Given the description of an element on the screen output the (x, y) to click on. 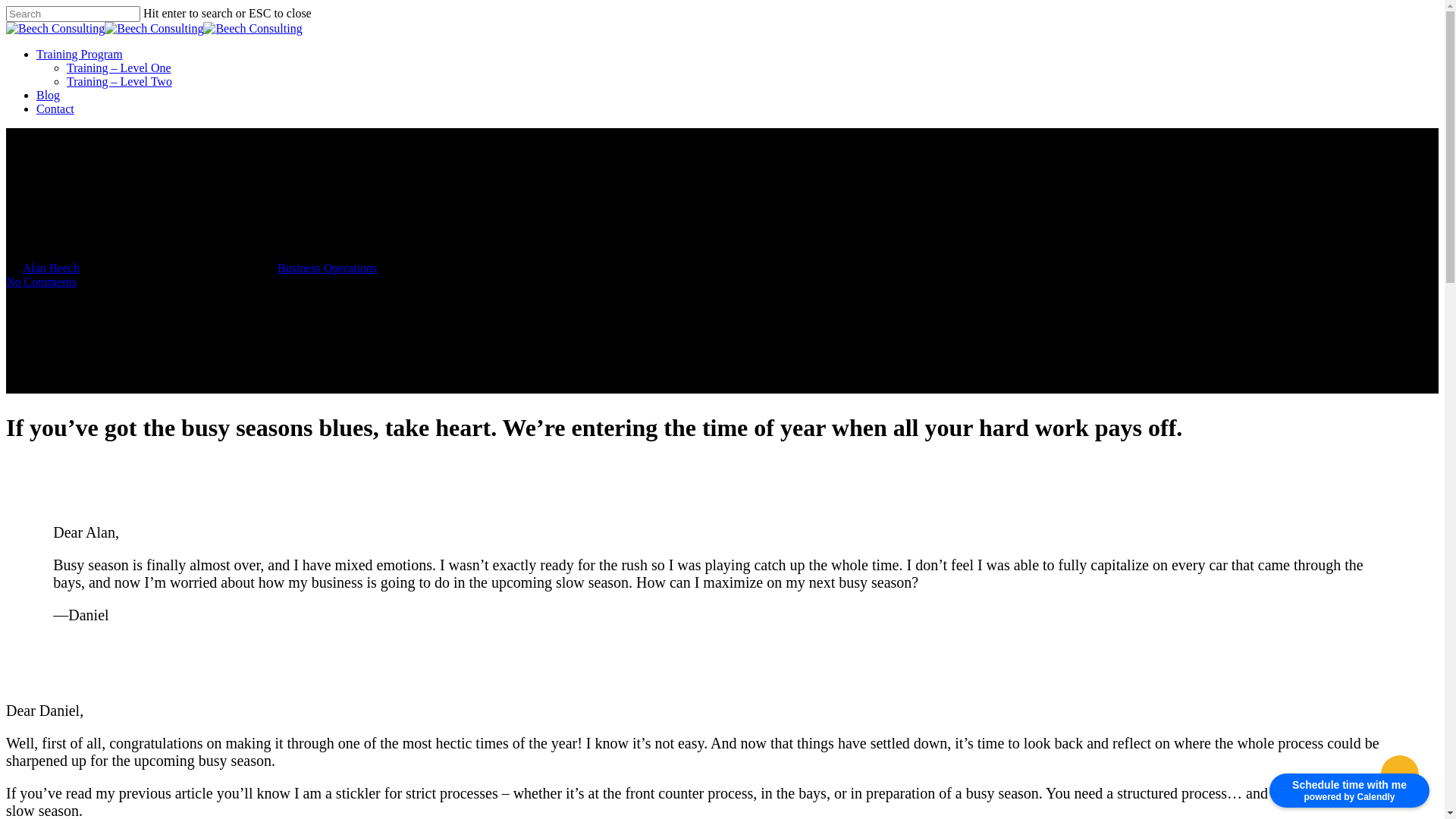
Business Operations Element type: text (326, 267)
Skip to main content Element type: text (5, 5)
Contact Element type: text (55, 108)
Training Program Element type: text (79, 53)
Blog Element type: text (47, 94)
No Comments Element type: text (41, 281)
Alan Beech Element type: text (50, 267)
